Given the description of an element on the screen output the (x, y) to click on. 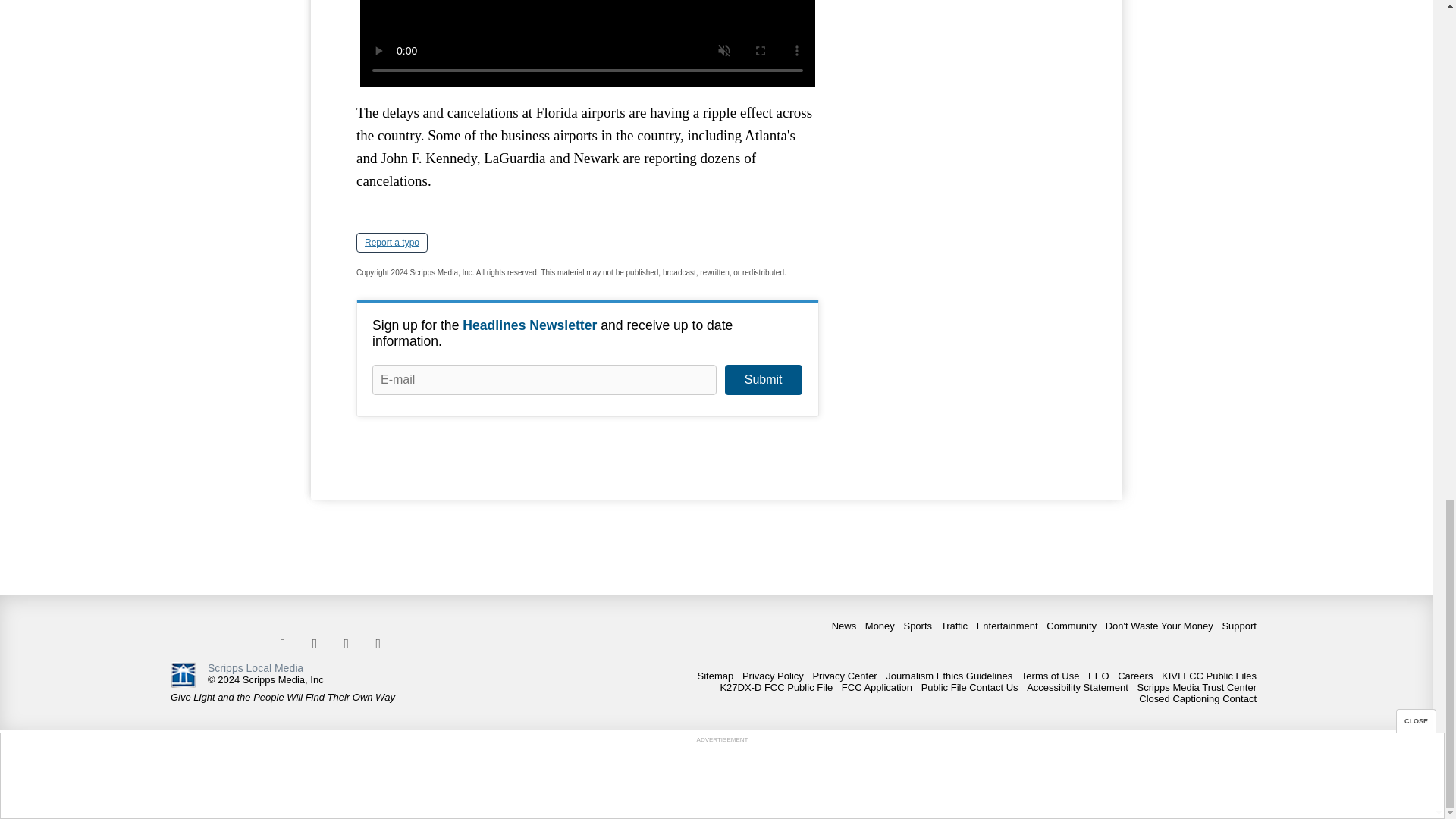
Submit (763, 379)
